Given the description of an element on the screen output the (x, y) to click on. 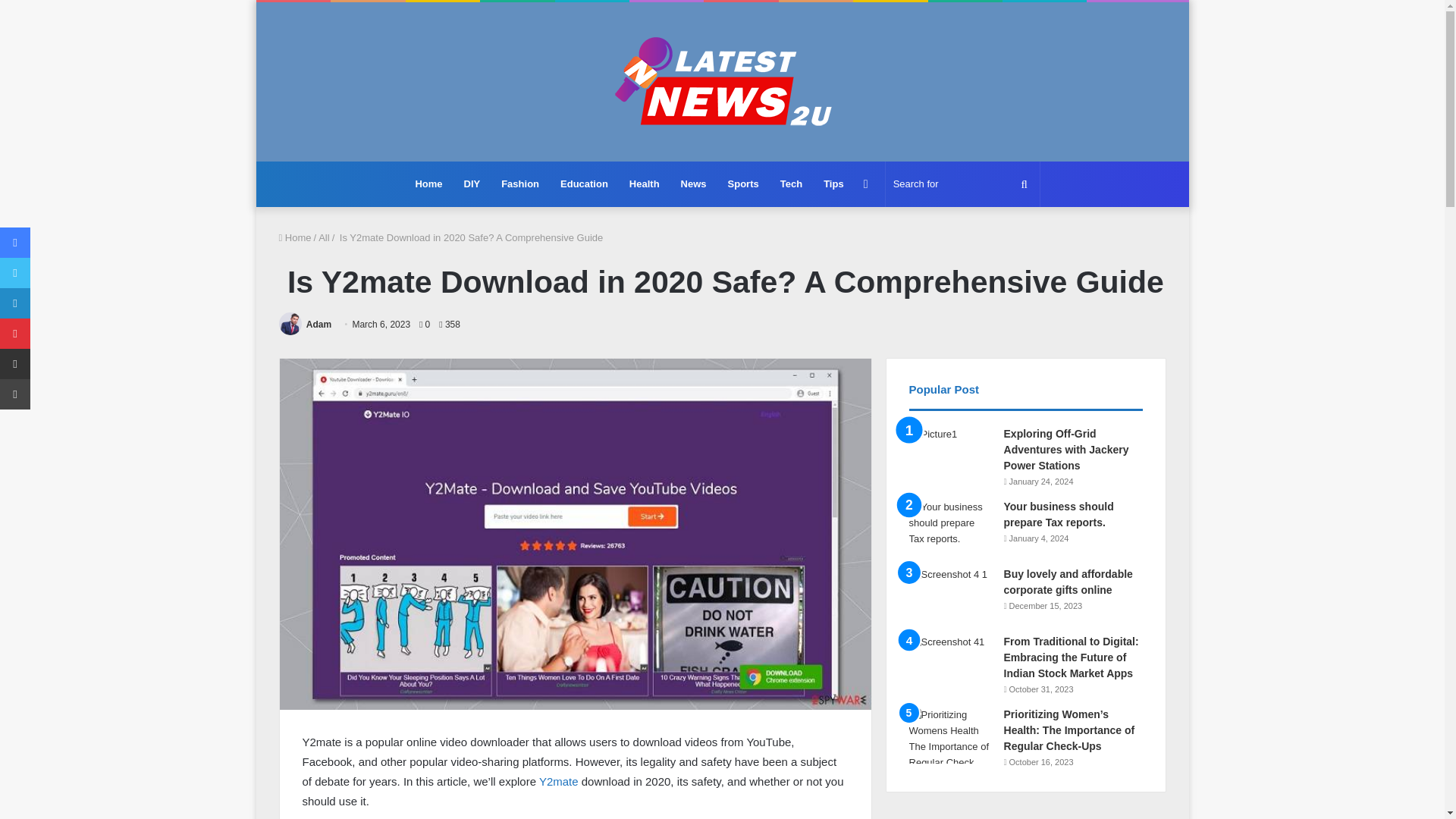
Education (584, 184)
Health (643, 184)
Adam (318, 324)
News (693, 184)
Search for (962, 184)
Home (295, 237)
Sports (743, 184)
Tech (791, 184)
LatestNews2u (721, 81)
All (323, 237)
Fashion (520, 184)
Adam (318, 324)
Home (428, 184)
Y2mate (556, 780)
Tips (833, 184)
